Given the description of an element on the screen output the (x, y) to click on. 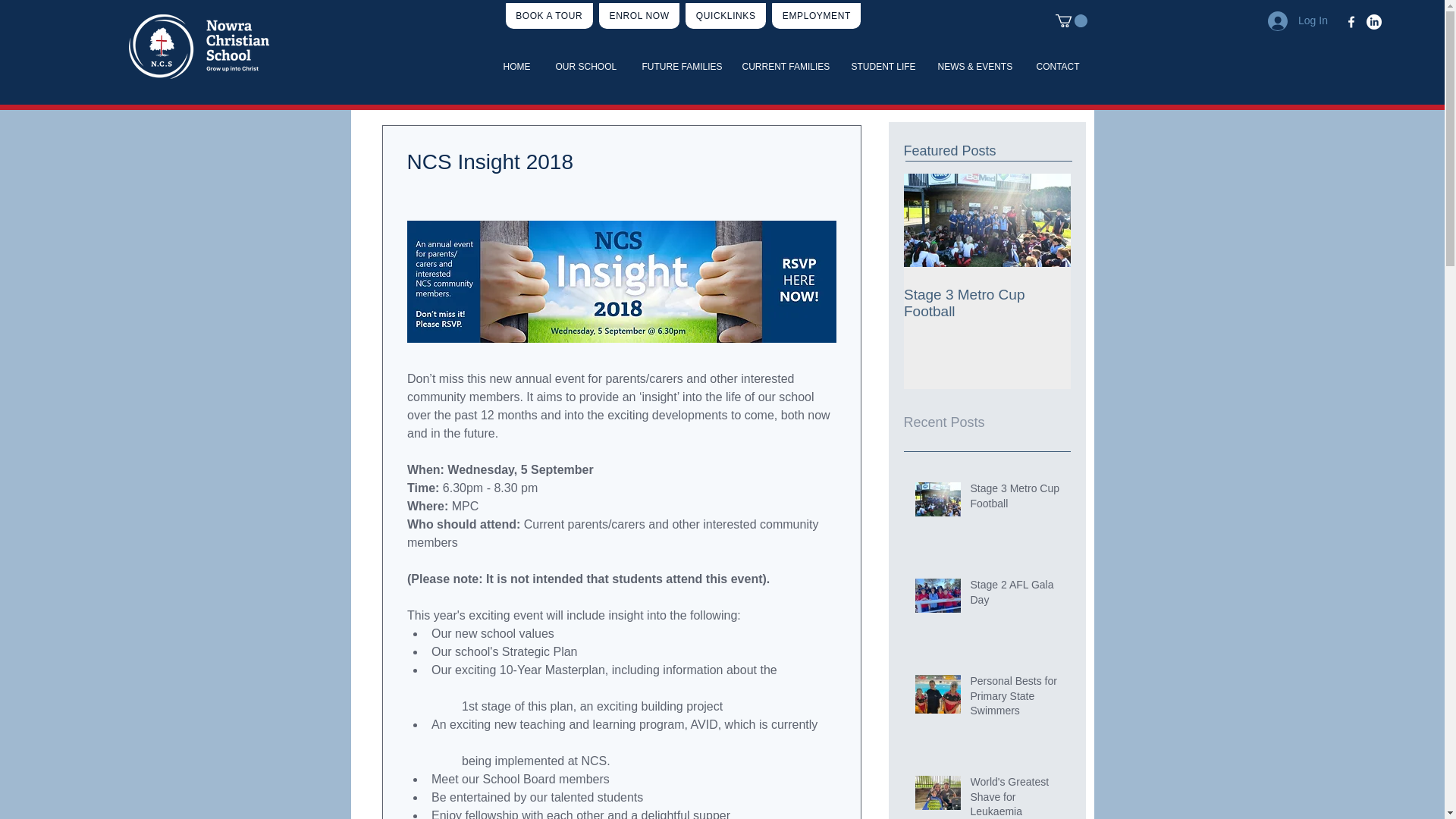
BOOK A TOUR (548, 15)
HOME (517, 66)
ENROL NOW (638, 15)
EMPLOYMENT (815, 15)
FUTURE FAMILIES (680, 66)
Log In (1296, 20)
